Given the description of an element on the screen output the (x, y) to click on. 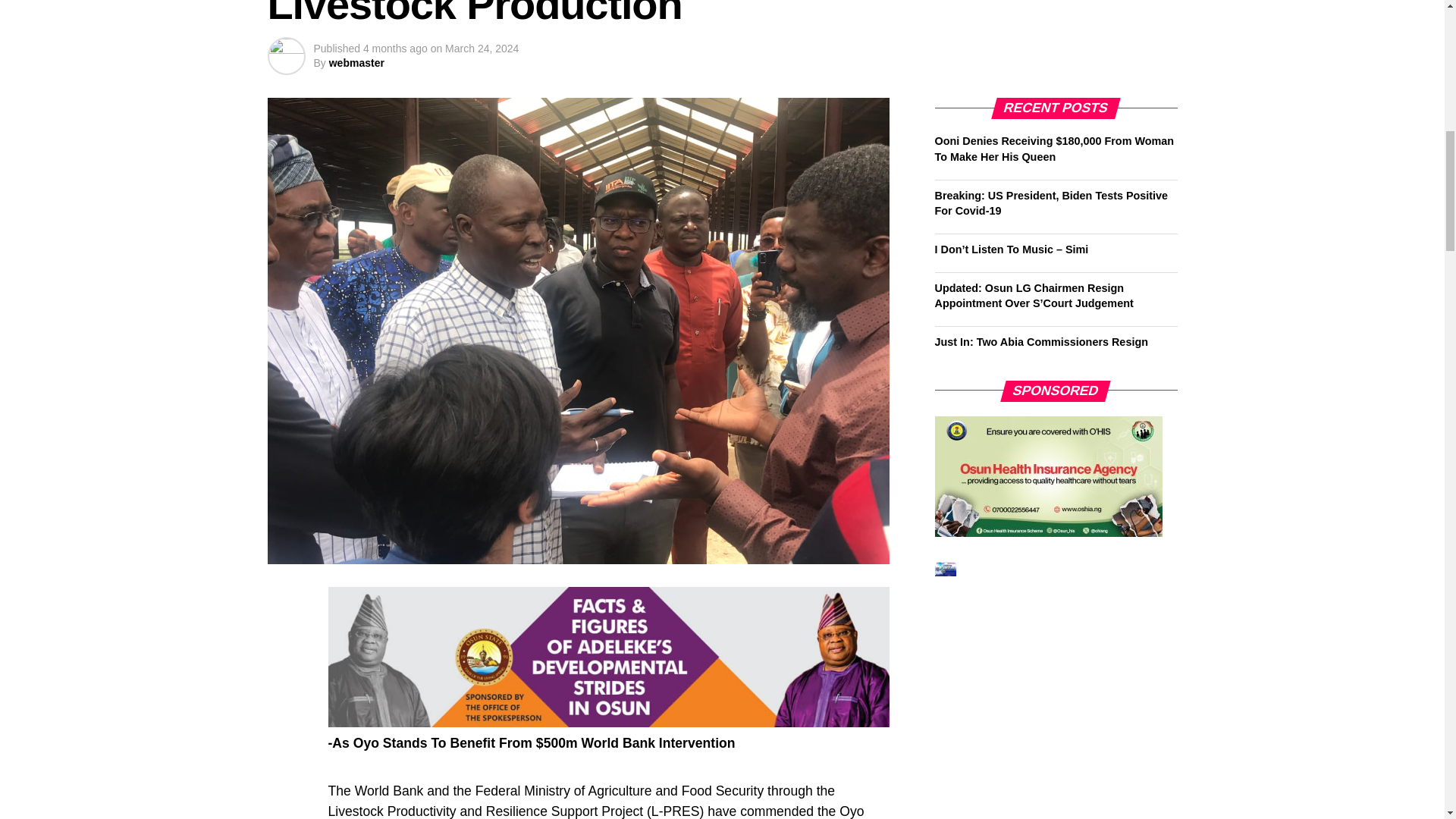
Just In: Two Abia Commissioners Resign (1040, 341)
webmaster (356, 62)
Sponsored (1047, 476)
Breaking: US President, Biden Tests Positive For Covid-19 (1050, 203)
Posts by webmaster (356, 62)
